Given the description of an element on the screen output the (x, y) to click on. 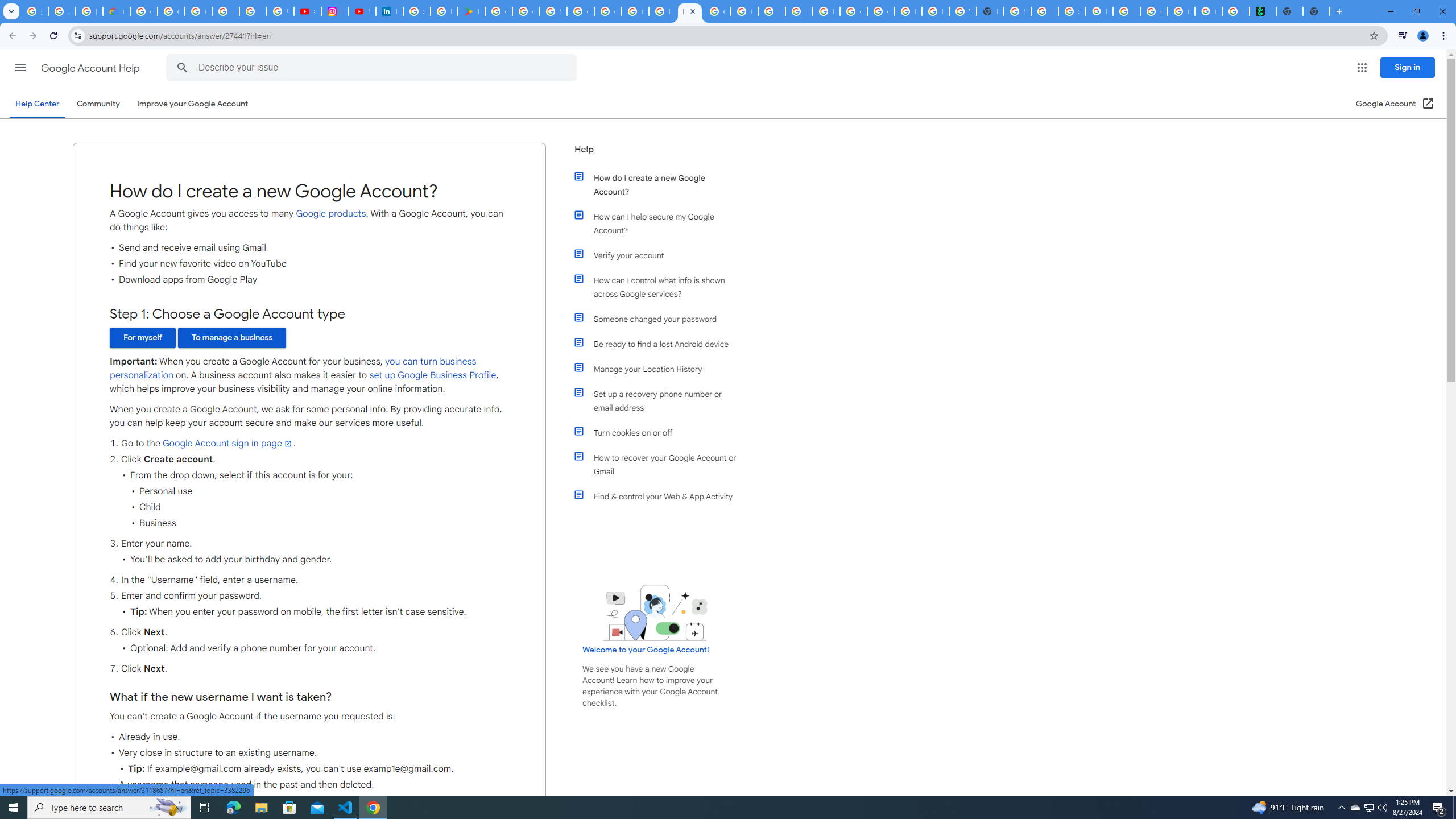
Describe your issue (373, 67)
YouTube Culture & Trends - On The Rise: Handcam Videos (362, 11)
How to recover your Google Account or Gmail (661, 464)
New Tab (1316, 11)
Browse Chrome as a guest - Computer - Google Chrome Help (908, 11)
Google Cloud Platform (853, 11)
Search Help Center (181, 67)
